Given the description of an element on the screen output the (x, y) to click on. 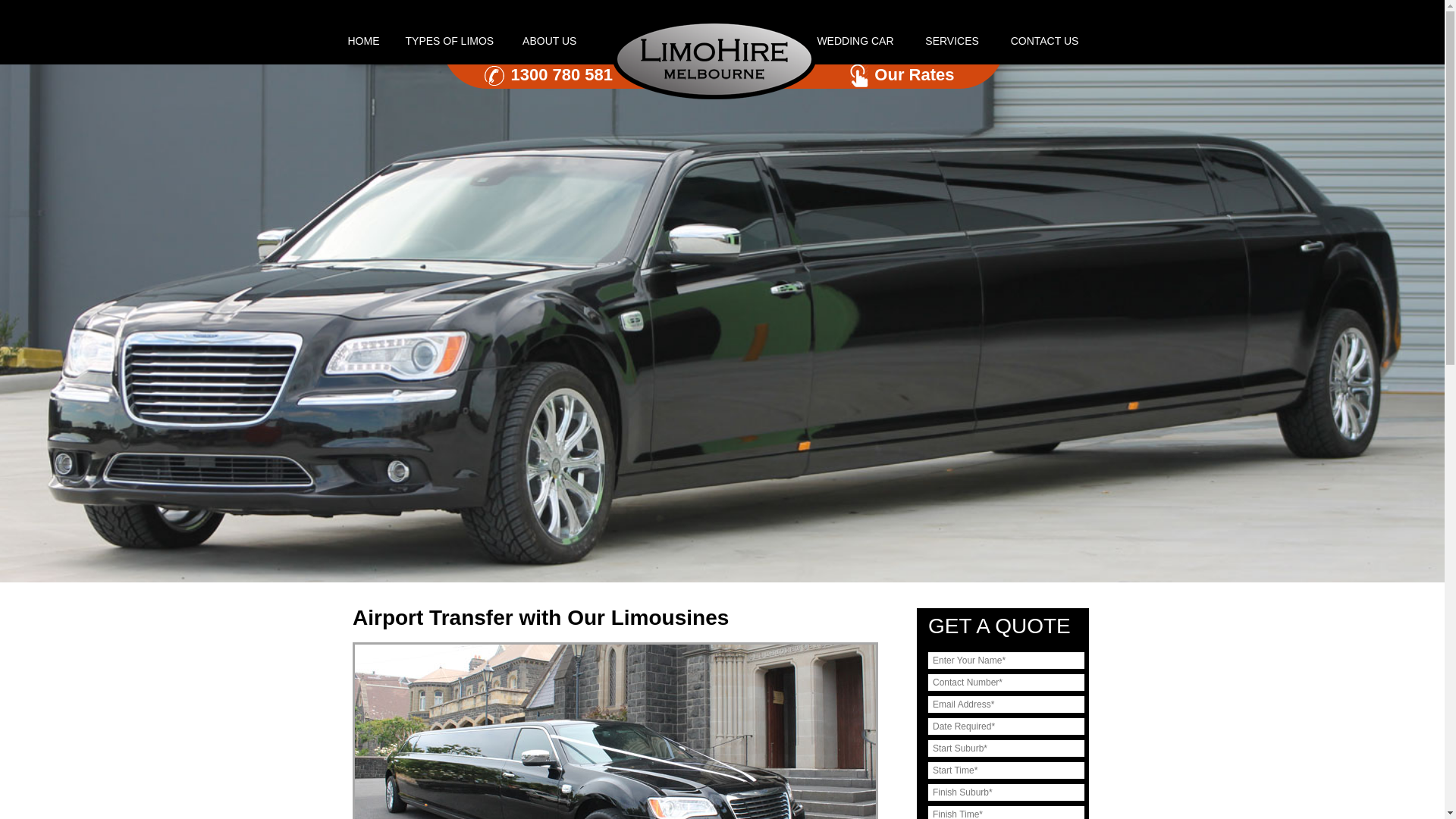
HOME Element type: text (363, 40)
TYPES OF LIMOS  Element type: text (451, 40)
  SERVICES   Element type: text (951, 40)
CONTACT US Element type: text (1044, 40)
Limo Hire Melbourne Element type: hover (713, 58)
Limo Hire Melbourne Element type: hover (722, 323)
  Element type: text (696, 40)
1300 780 581 Element type: text (562, 74)
ABOUT US Element type: text (549, 40)
WEDDING CAR Element type: text (854, 40)
Our Rates Element type: text (913, 74)
Limo Hire Melbourne Element type: hover (713, 95)
